Given the description of an element on the screen output the (x, y) to click on. 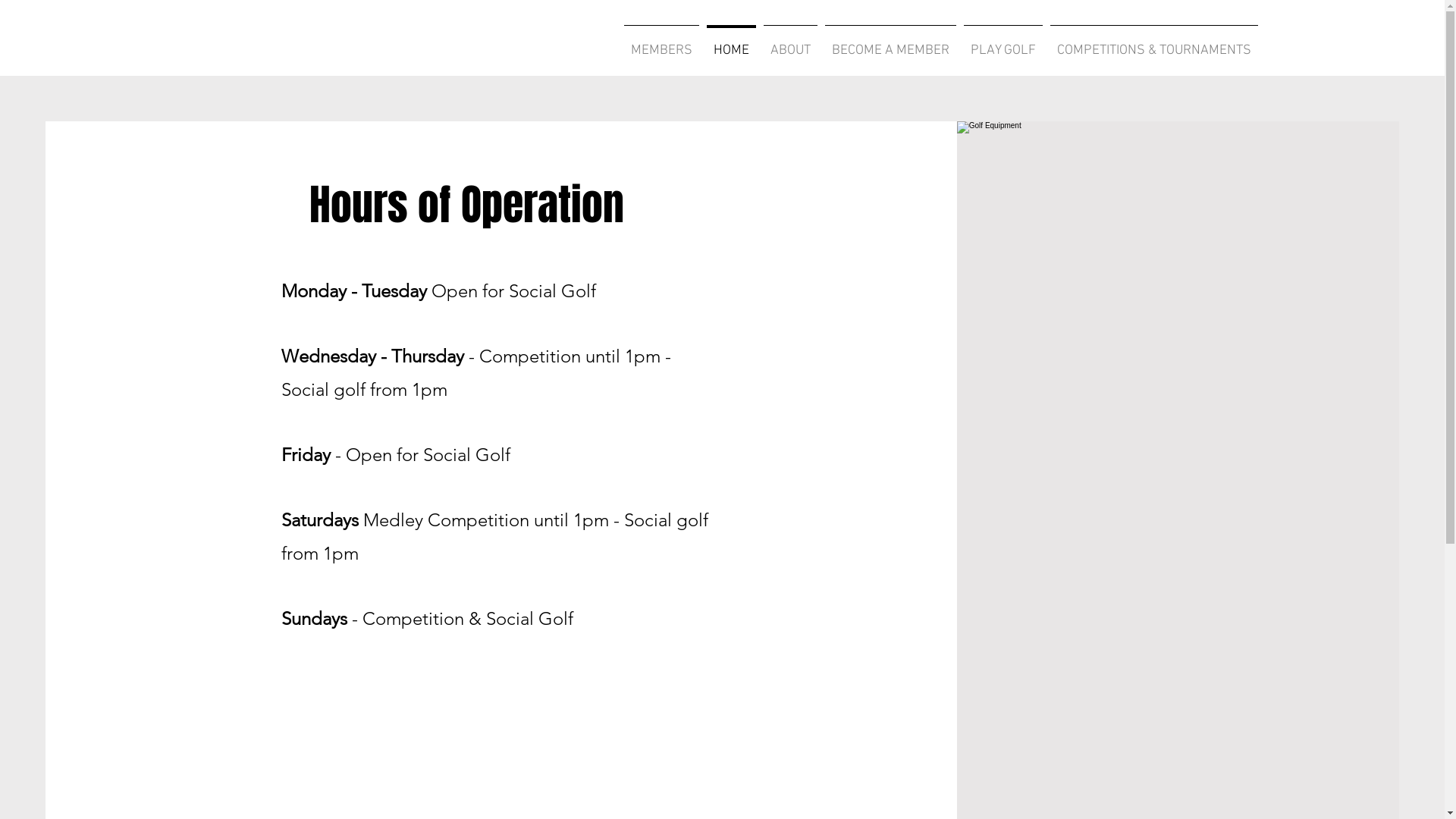
MEMBERS Element type: text (661, 43)
ABOUT Element type: text (790, 43)
PLAY GOLF Element type: text (1003, 43)
BECOME A MEMBER Element type: text (890, 43)
HOME Element type: text (730, 43)
COMPETITIONS & TOURNAMENTS Element type: text (1153, 43)
